Given the description of an element on the screen output the (x, y) to click on. 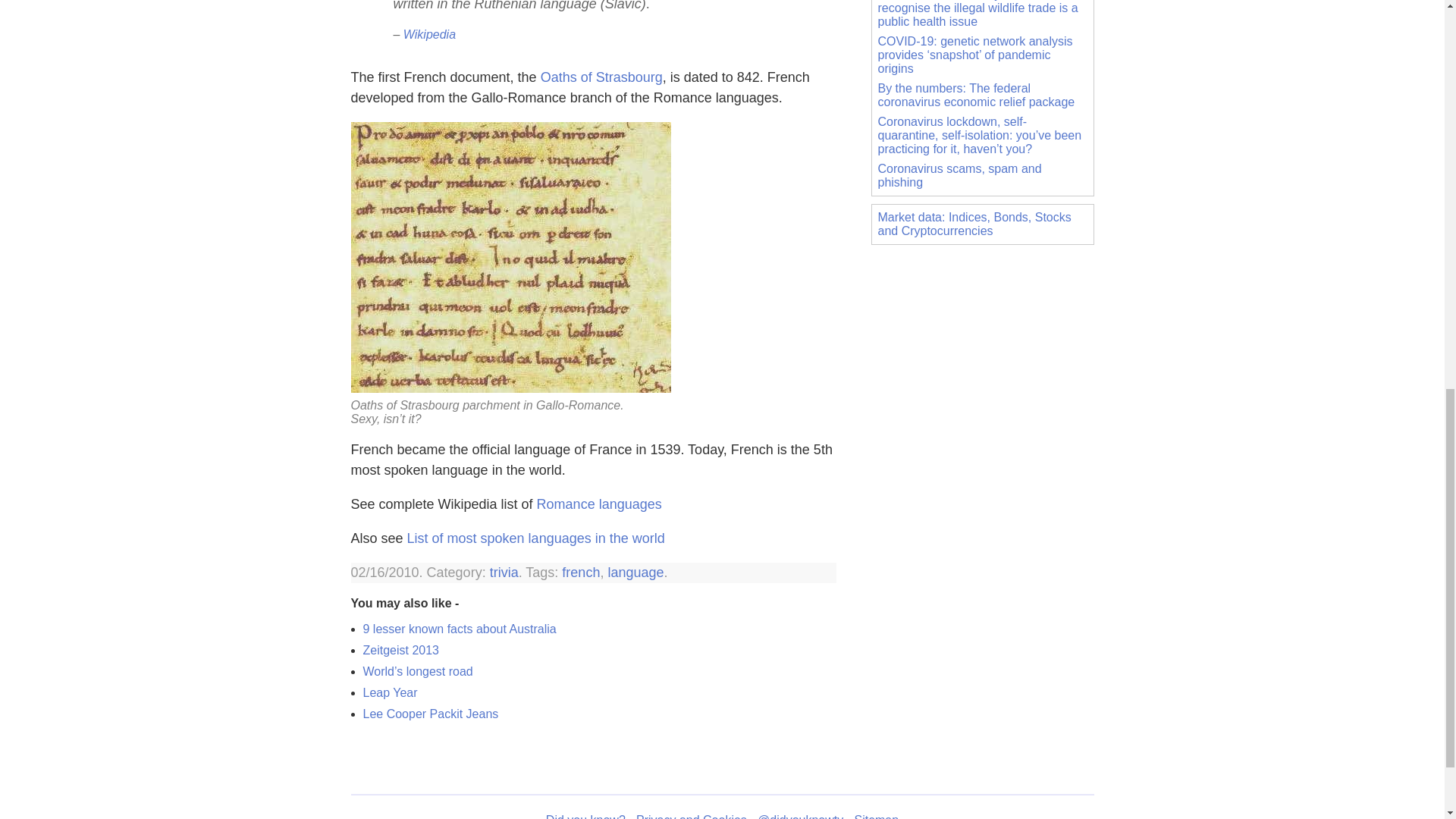
trivia (503, 572)
language (635, 572)
Romance languages (599, 503)
french (580, 572)
List of most spoken languages in the world (536, 538)
9 lesser known facts about Australia (459, 628)
Lee Cooper Packit Jeans (429, 713)
Zeitgeist 2013 (400, 649)
Oaths of Strasbourg (601, 77)
